Given the description of an element on the screen output the (x, y) to click on. 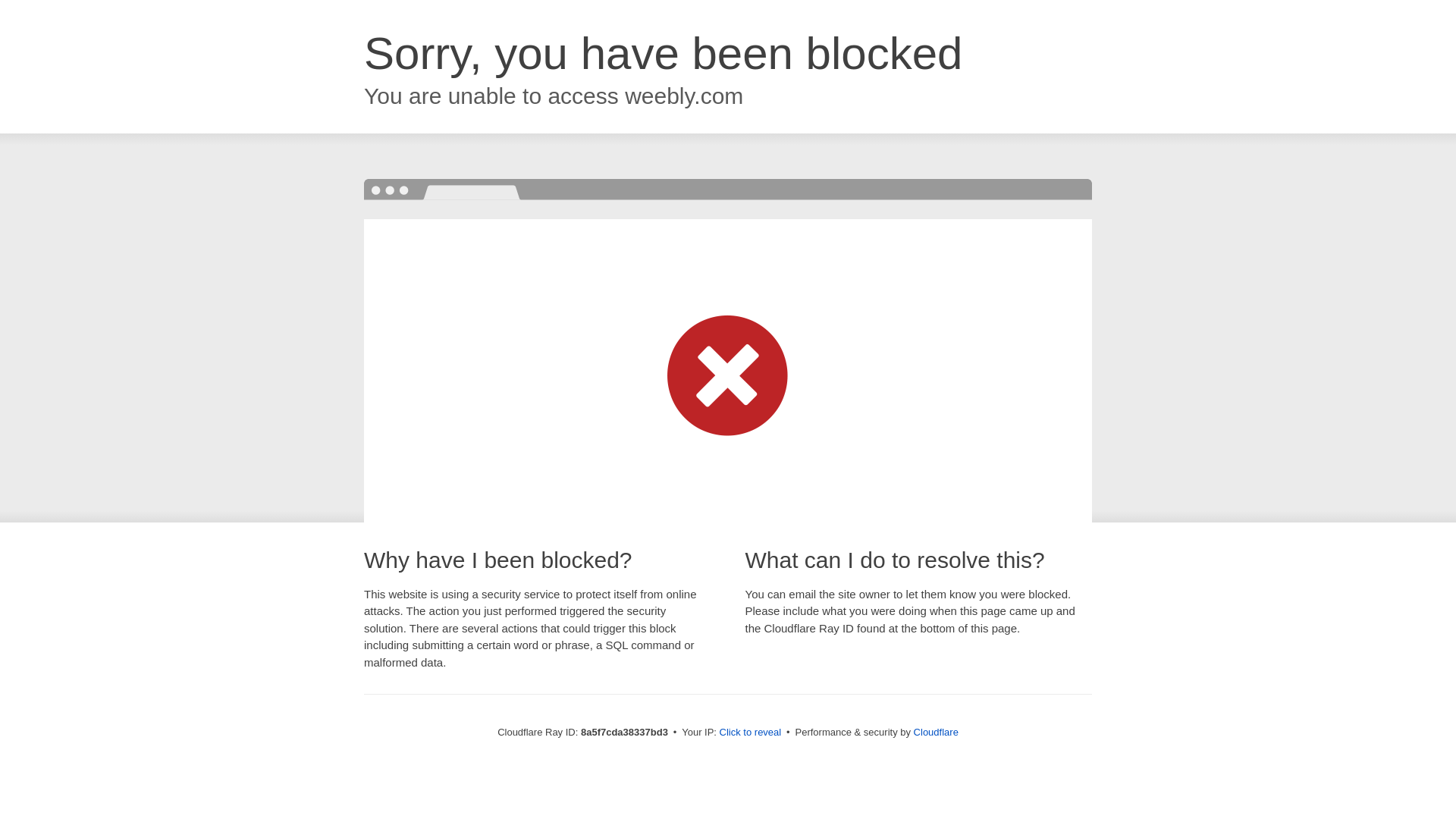
Cloudflare (936, 731)
Click to reveal (750, 732)
